Given the description of an element on the screen output the (x, y) to click on. 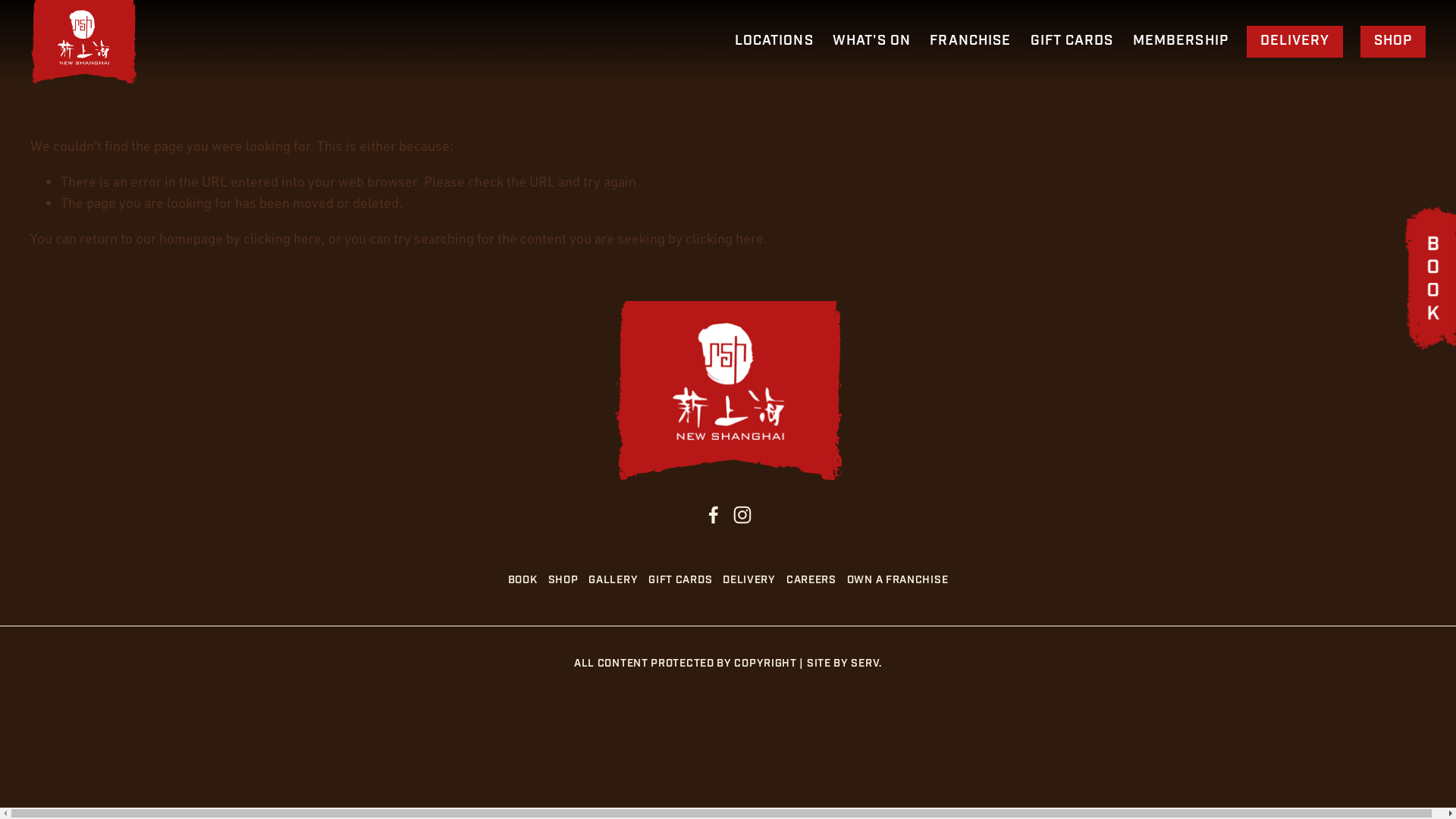
GIFT CARDS Element type: text (1071, 41)
MEMBERSHIP Element type: text (1180, 41)
GIFT CARDS Element type: text (685, 580)
WHAT'S ON Element type: text (871, 41)
LOCATIONS Element type: text (773, 41)
clicking here Element type: text (724, 238)
BOOK Element type: text (528, 580)
OWN A FRANCHISE Element type: text (903, 580)
SHOP Element type: text (1393, 41)
SITE BY SERV. Element type: text (843, 664)
DELIVERY Element type: text (1295, 41)
GALLERY Element type: text (618, 580)
DELIVERY Element type: text (754, 580)
SHOP Element type: text (568, 580)
CAREERS Element type: text (816, 580)
FRANCHISE Element type: text (969, 41)
clicking here Element type: text (282, 238)
